Given the description of an element on the screen output the (x, y) to click on. 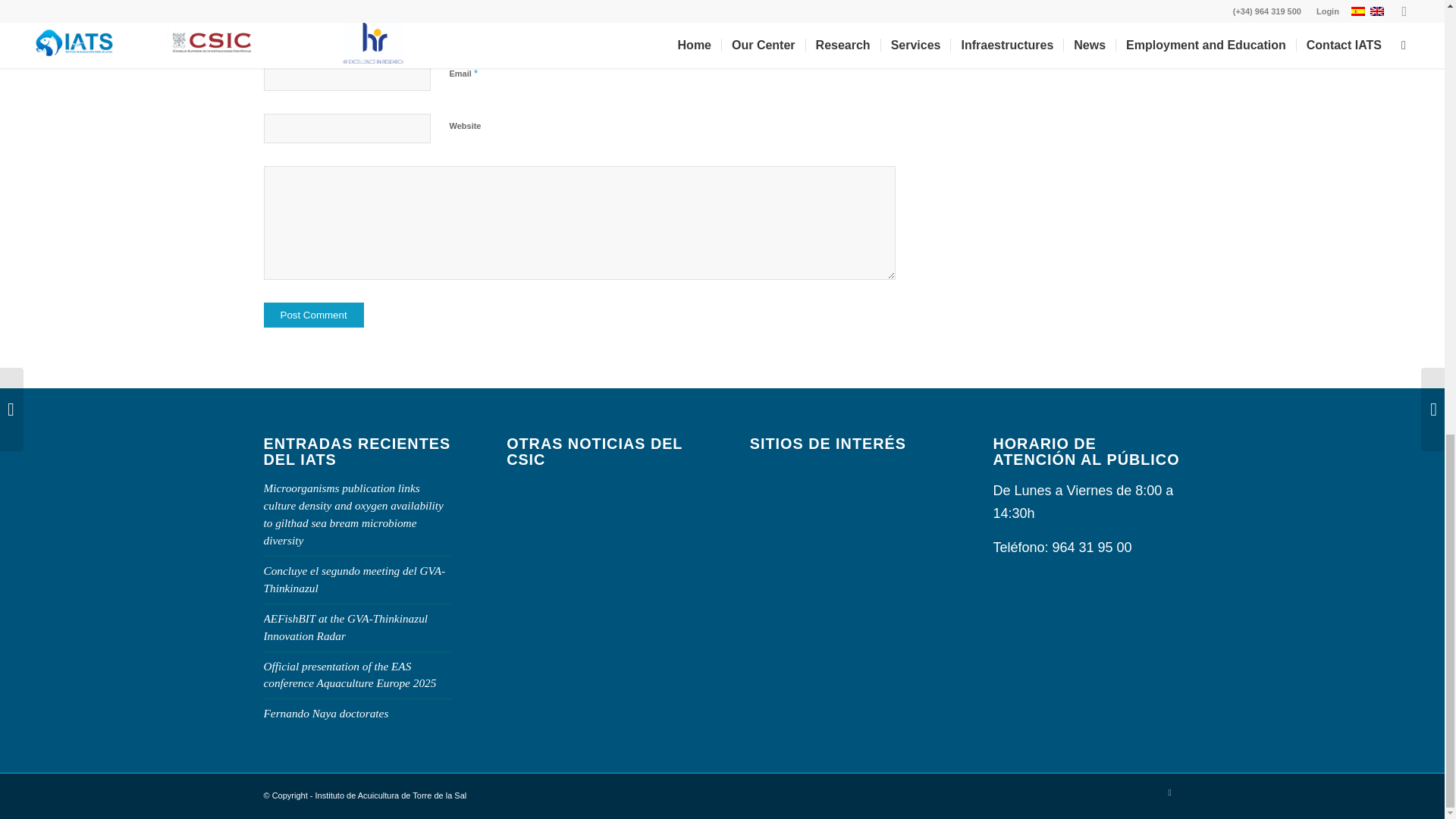
Facebook (1169, 792)
Post Comment (313, 314)
